Given the description of an element on the screen output the (x, y) to click on. 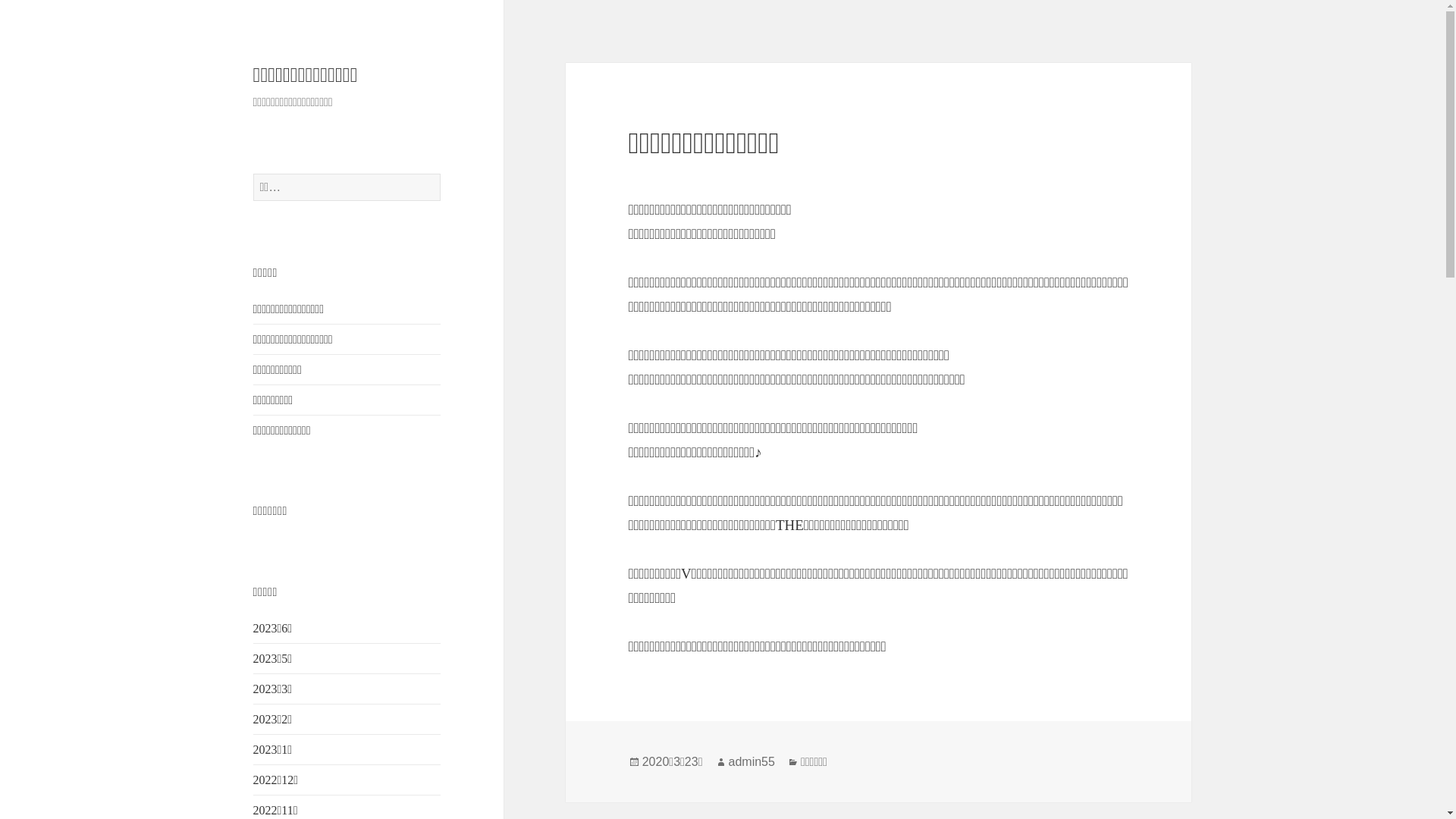
admin55 Element type: text (751, 761)
